Given the description of an element on the screen output the (x, y) to click on. 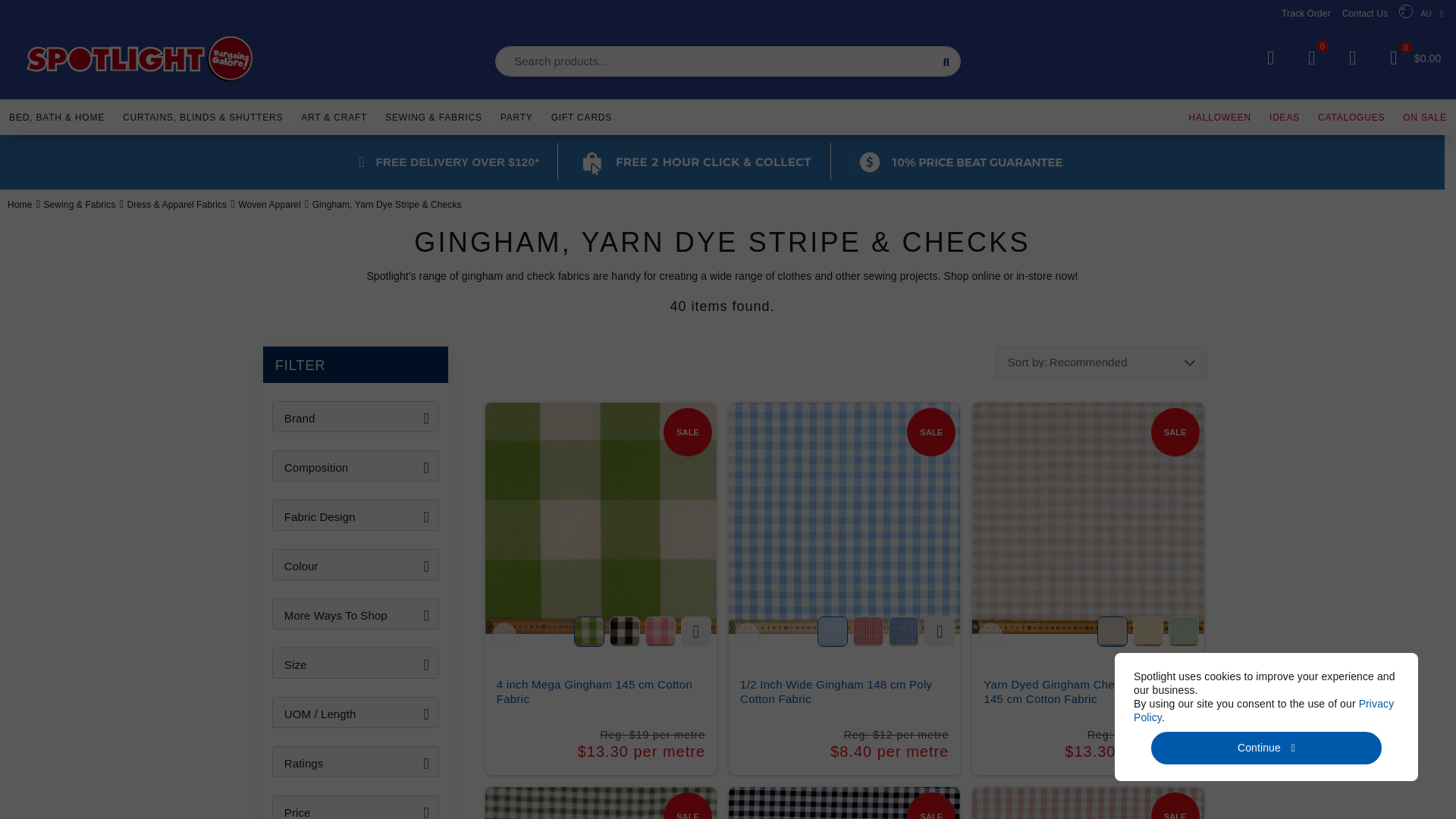
Spotlight (139, 58)
Search for a product, brand or project (727, 60)
Halloween (1219, 115)
Party (516, 115)
0 (1311, 57)
IDEAS (1284, 115)
Contact Us (1364, 13)
Contact Us (1364, 13)
Gift Cards (581, 115)
